Given the description of an element on the screen output the (x, y) to click on. 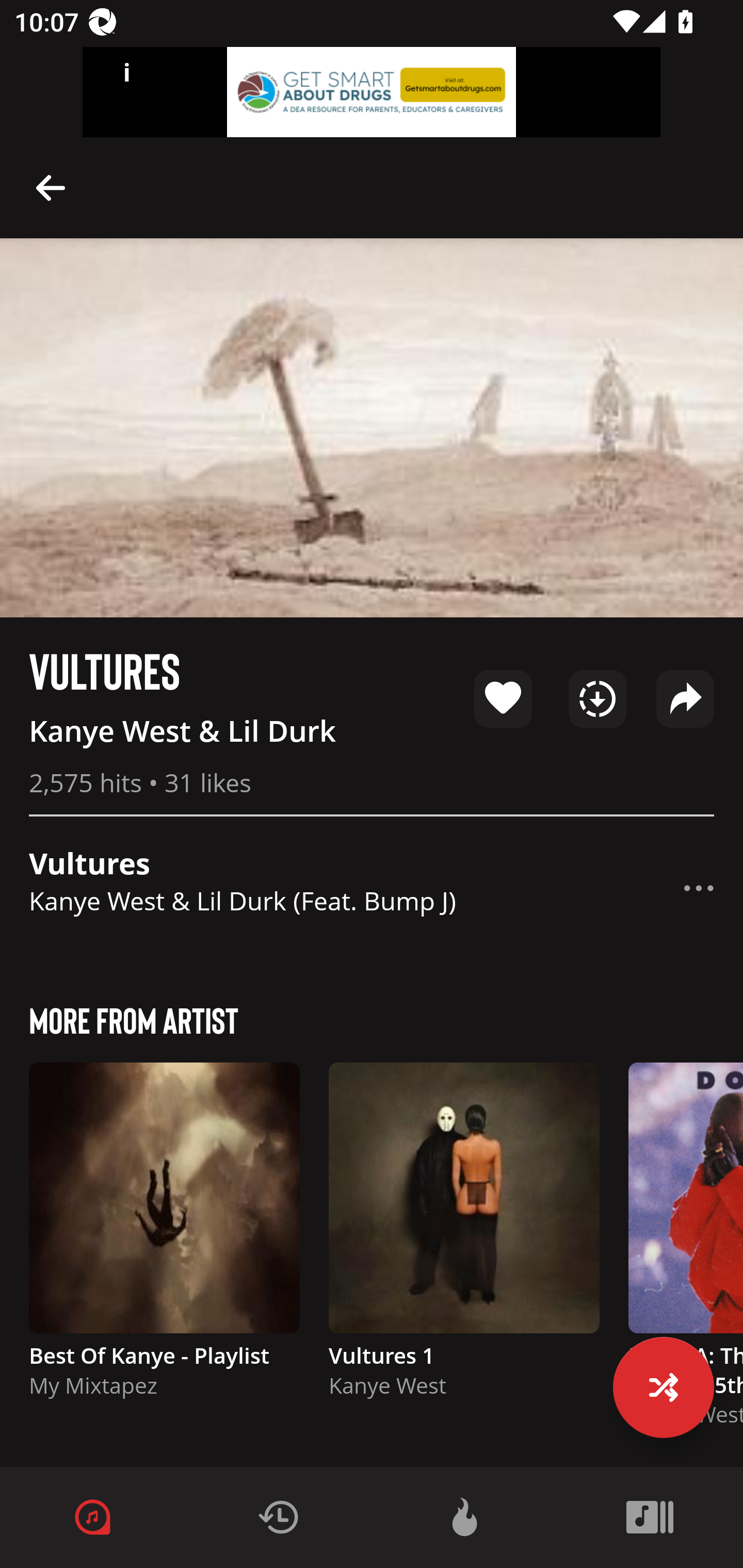
Description (50, 187)
Description (698, 888)
Description Best Of Kanye - Playlist My Mixtapez (164, 1238)
Description Vultures 1 Kanye West (463, 1238)
